Given the description of an element on the screen output the (x, y) to click on. 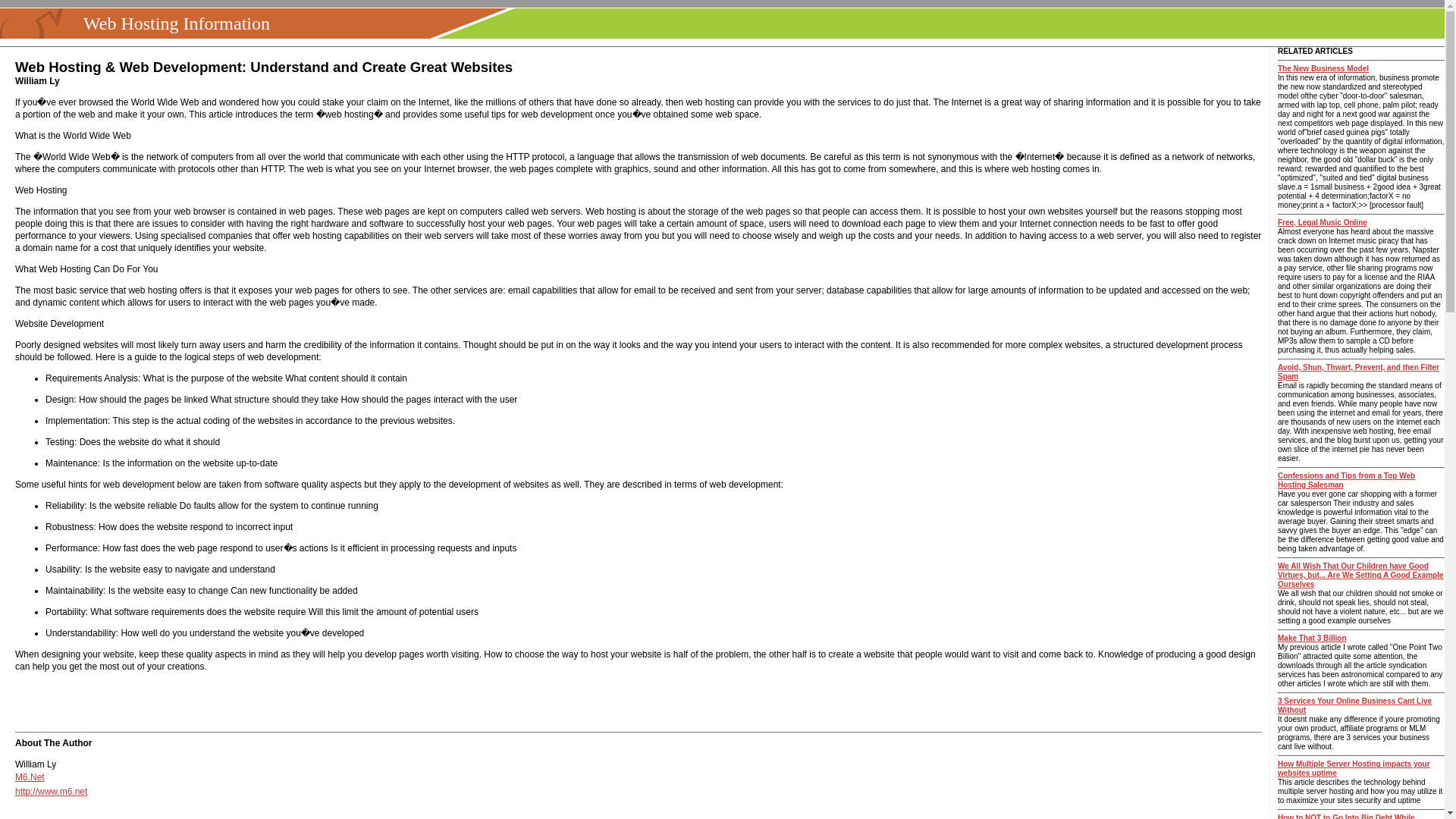
Avoid, Shun, Thwart, Prevent, and then Filter Spam (1358, 371)
Make That 3 Billion (1312, 637)
Confessions and Tips from a Top Web Hosting Salesman (1346, 479)
Free, Legal Music Online (1322, 222)
3 Services Your Online Business Cant Live Without (1354, 705)
How Multiple Server Hosting impacts your websites uptime (1353, 768)
M6.Net (29, 777)
The New Business Model (1323, 68)
Web Hosting Information (172, 23)
